Given the description of an element on the screen output the (x, y) to click on. 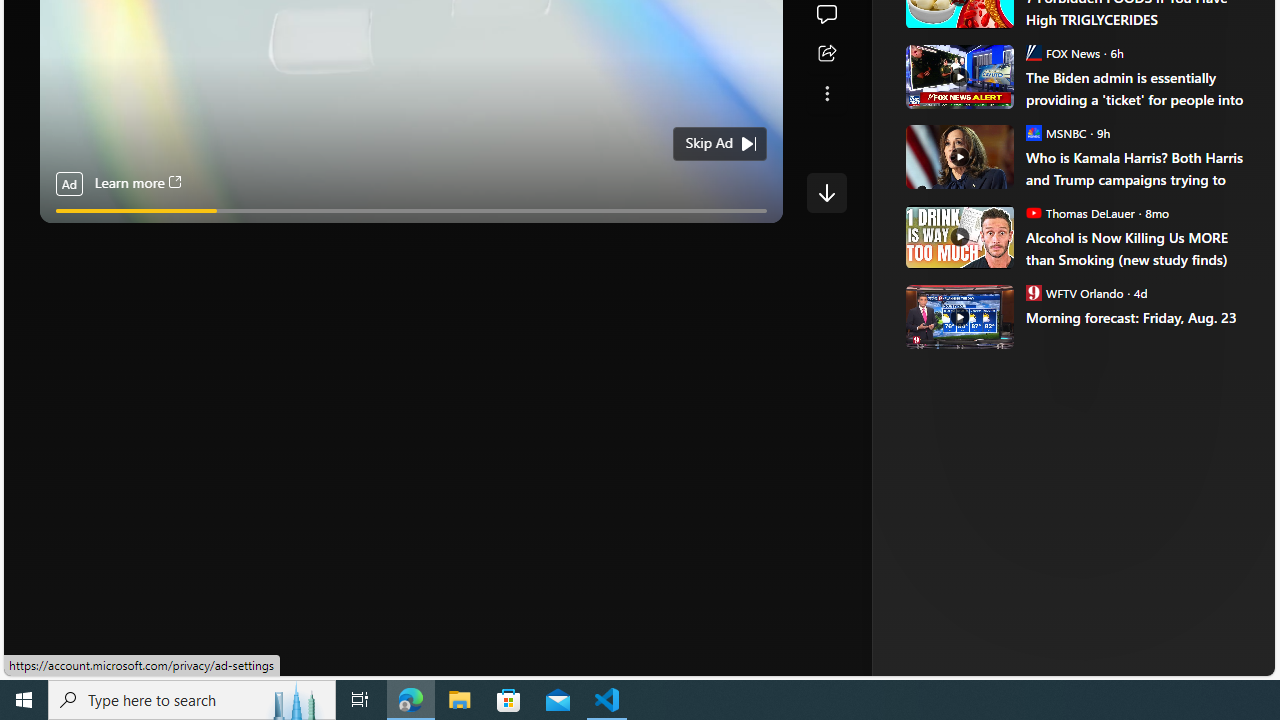
Summer Sale! Up to -55% (1084, 186)
Share this story (826, 53)
FOX News FOX News (1062, 52)
Morning forecast: Friday, Aug. 23 (958, 316)
Unmute (757, 235)
WFTV Orlando WFTV Orlando (1074, 291)
Pause (68, 233)
Thomas DeLauer (1033, 212)
MSNBC MSNBC (1055, 132)
Share this story (826, 53)
MSNBC (1033, 132)
